Given the description of an element on the screen output the (x, y) to click on. 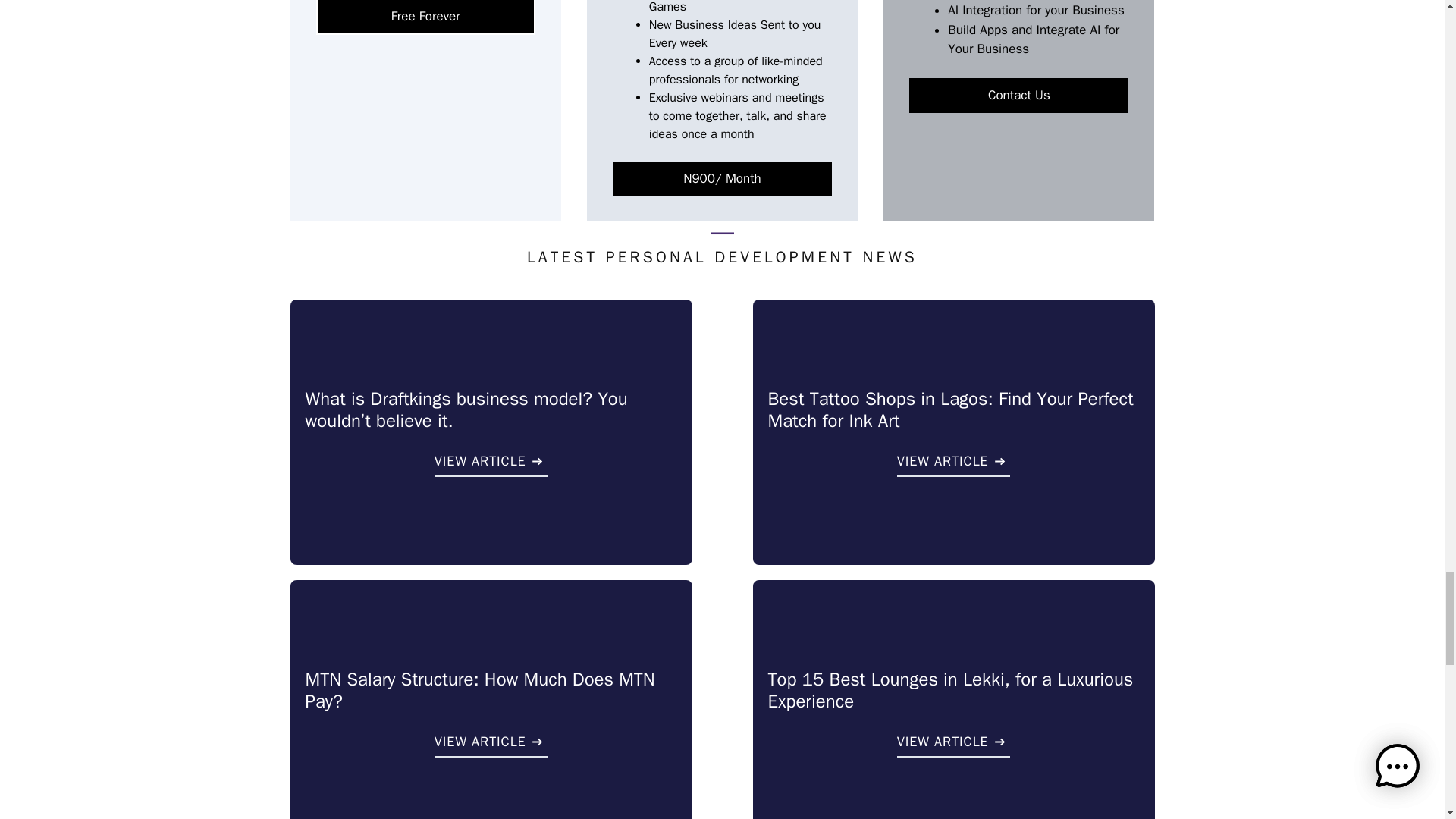
Contact Us (1018, 95)
VIEW ARTICLE (490, 463)
Free Forever (424, 18)
VIEW ARTICLE (953, 463)
